Given the description of an element on the screen output the (x, y) to click on. 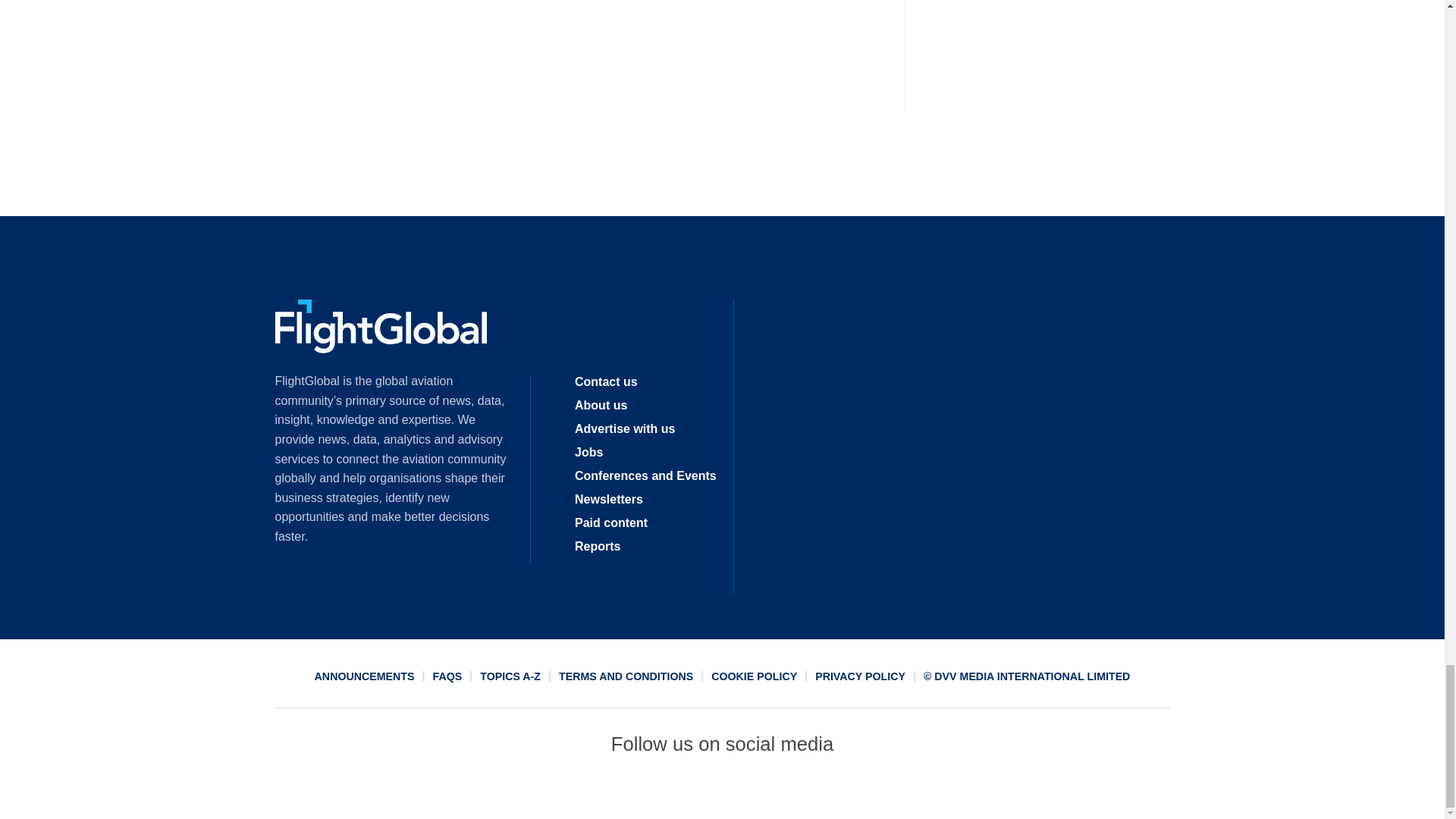
Connect with us on Facebook (611, 791)
Connect with us on Youtube (831, 791)
Connect with us on Twitter (667, 791)
Connect with us on Linked In (721, 791)
Email us (776, 791)
